Given the description of an element on the screen output the (x, y) to click on. 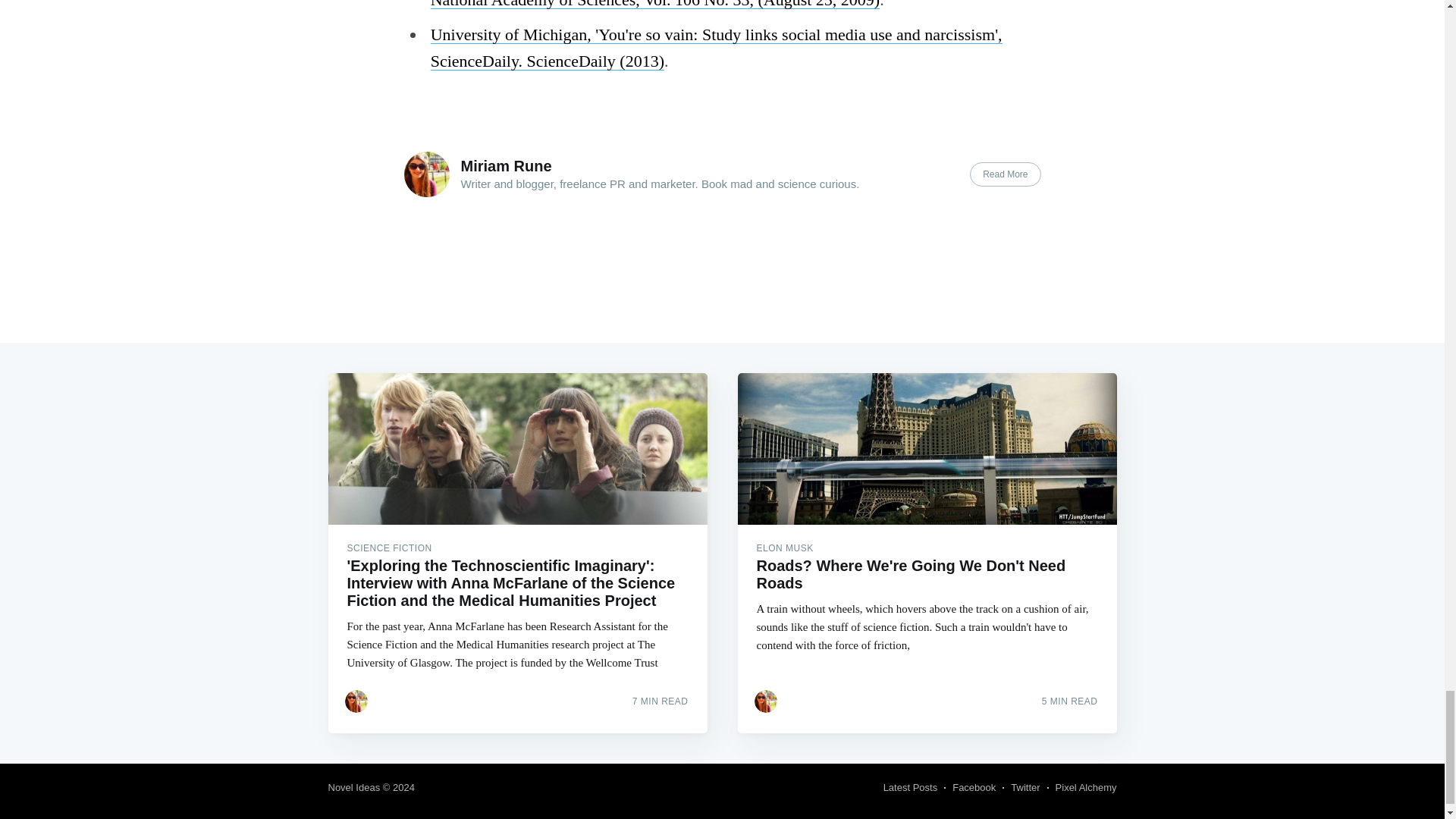
Novel Ideas (353, 787)
Latest Posts (910, 787)
Facebook (973, 787)
Twitter (1024, 787)
Miriam Rune (506, 166)
Pixel Alchemy (1085, 787)
Read More (1005, 174)
